Given the description of an element on the screen output the (x, y) to click on. 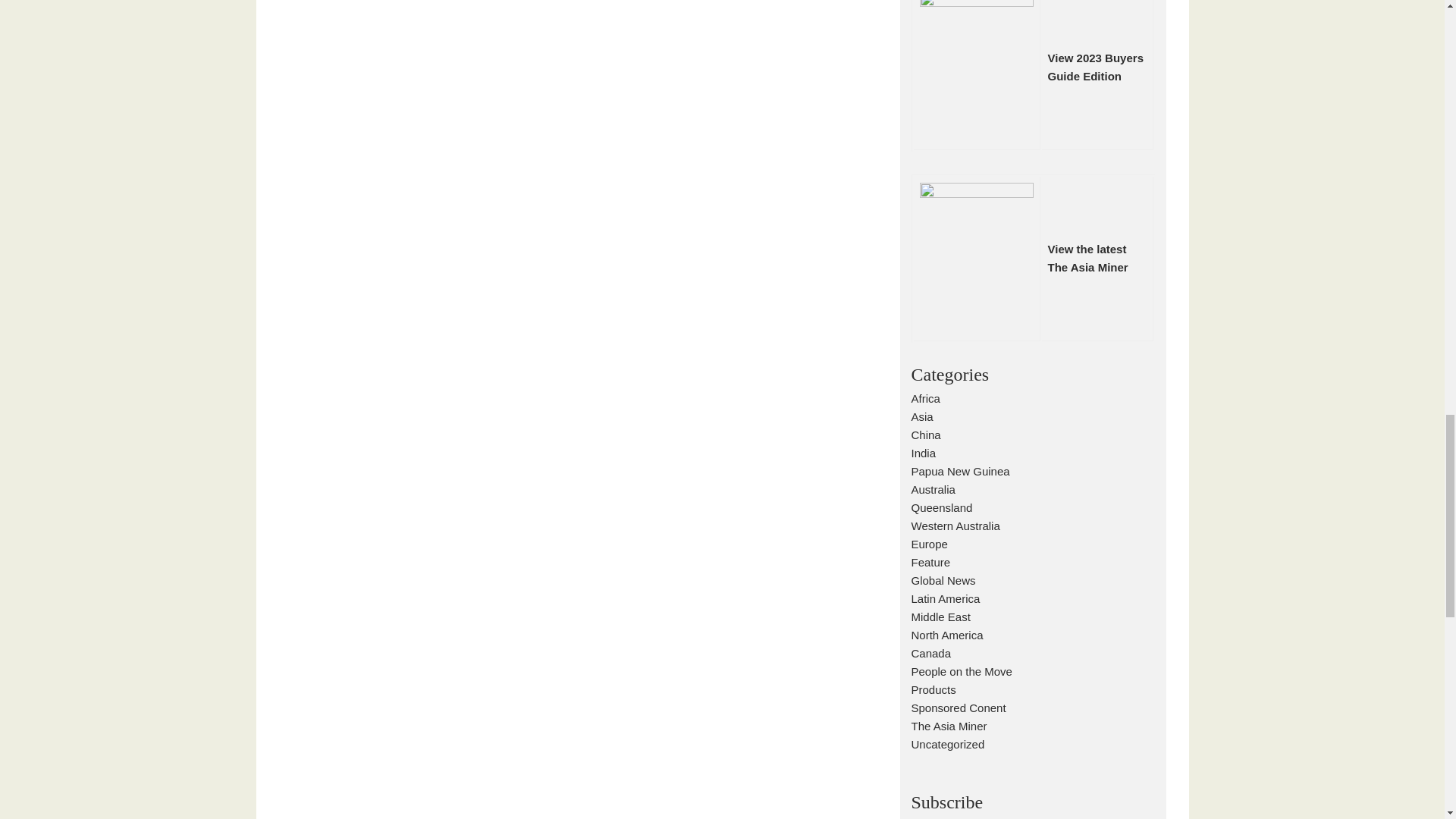
North American Mining Products Current Issue (1095, 66)
North American Mining Products Current Issue (1088, 257)
